Given the description of an element on the screen output the (x, y) to click on. 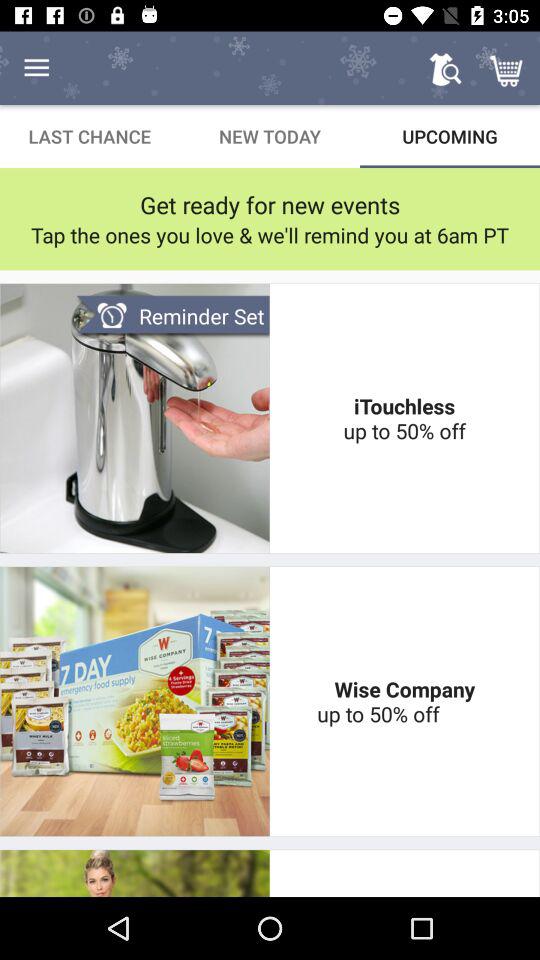
launch the get ready for (270, 204)
